Given the description of an element on the screen output the (x, y) to click on. 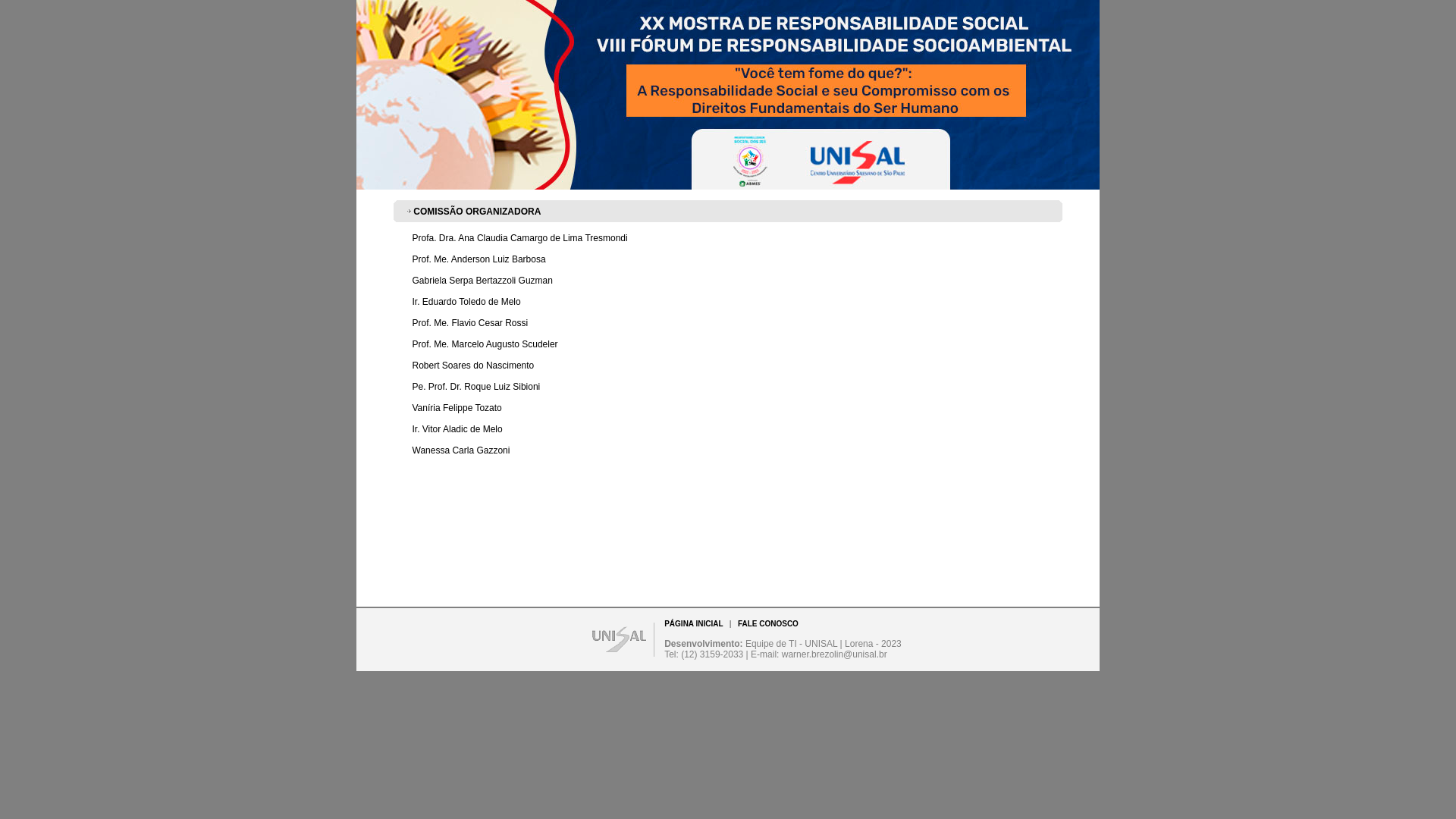
warner.brezolin@unisal.br Element type: text (834, 654)
FALE CONOSCO Element type: text (767, 623)
